Given the description of an element on the screen output the (x, y) to click on. 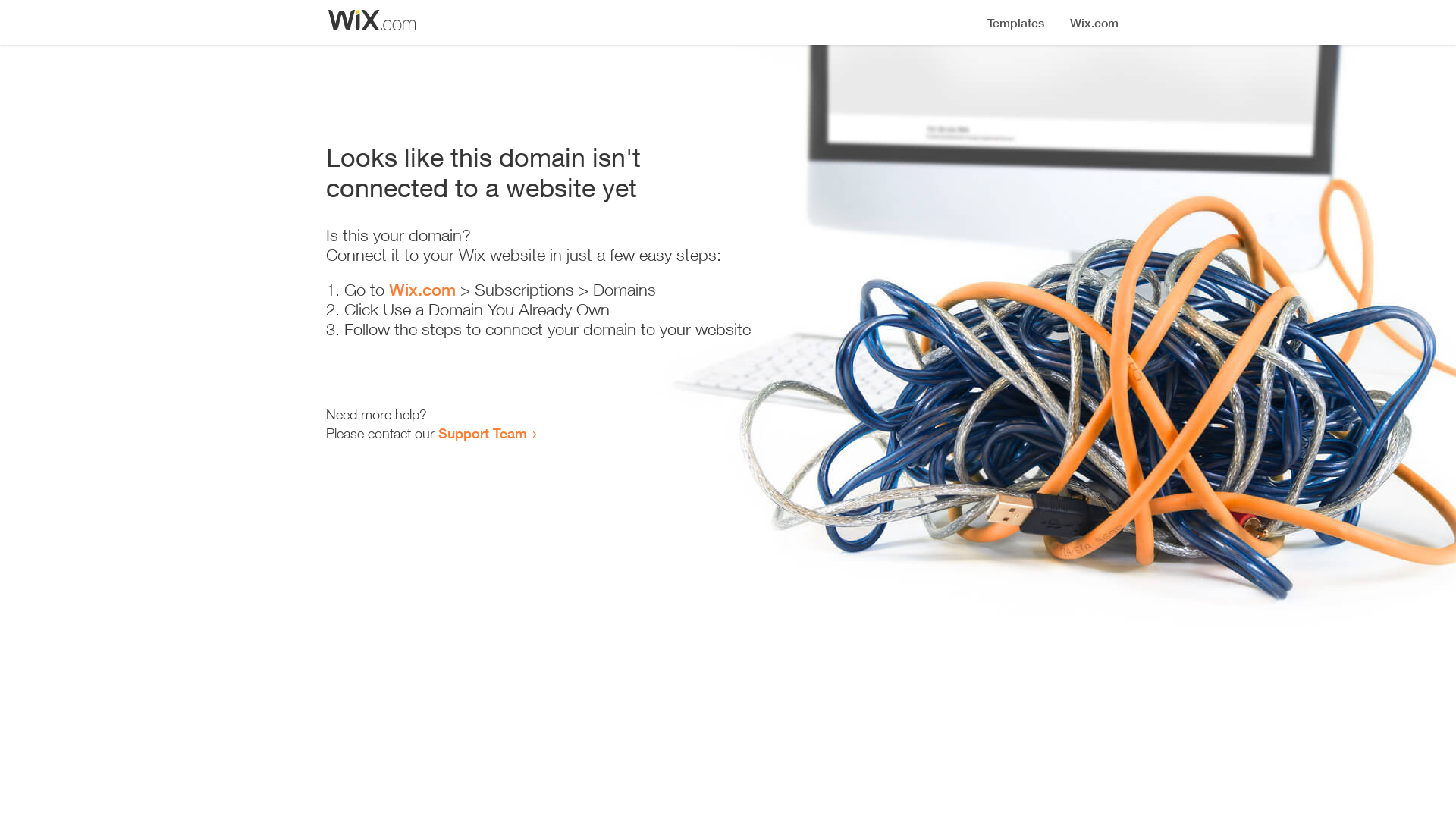
Support Team Element type: text (482, 432)
Wix.com Element type: text (422, 289)
